Given the description of an element on the screen output the (x, y) to click on. 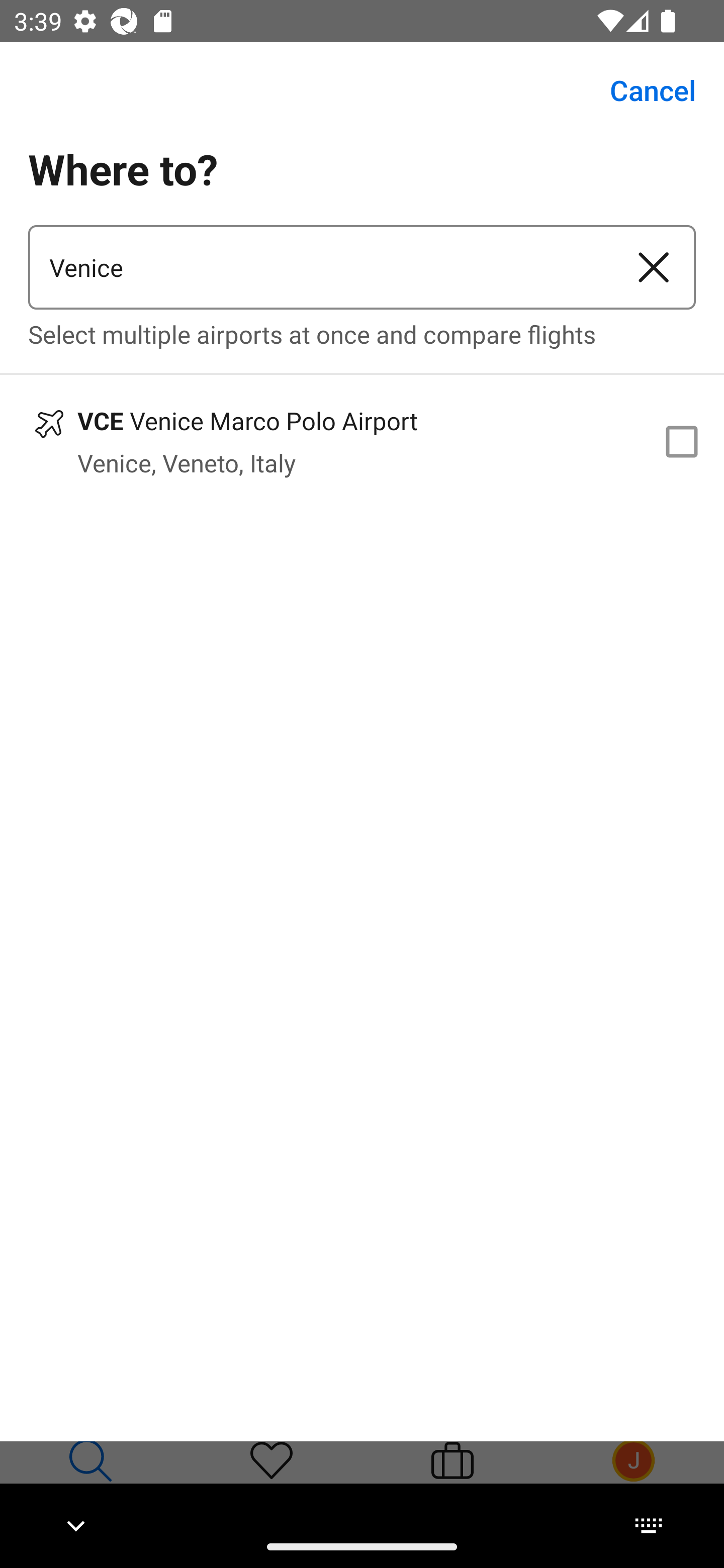
Cancel (641, 90)
Venice (319, 266)
Clear airport or city (653, 266)
